Given the description of an element on the screen output the (x, y) to click on. 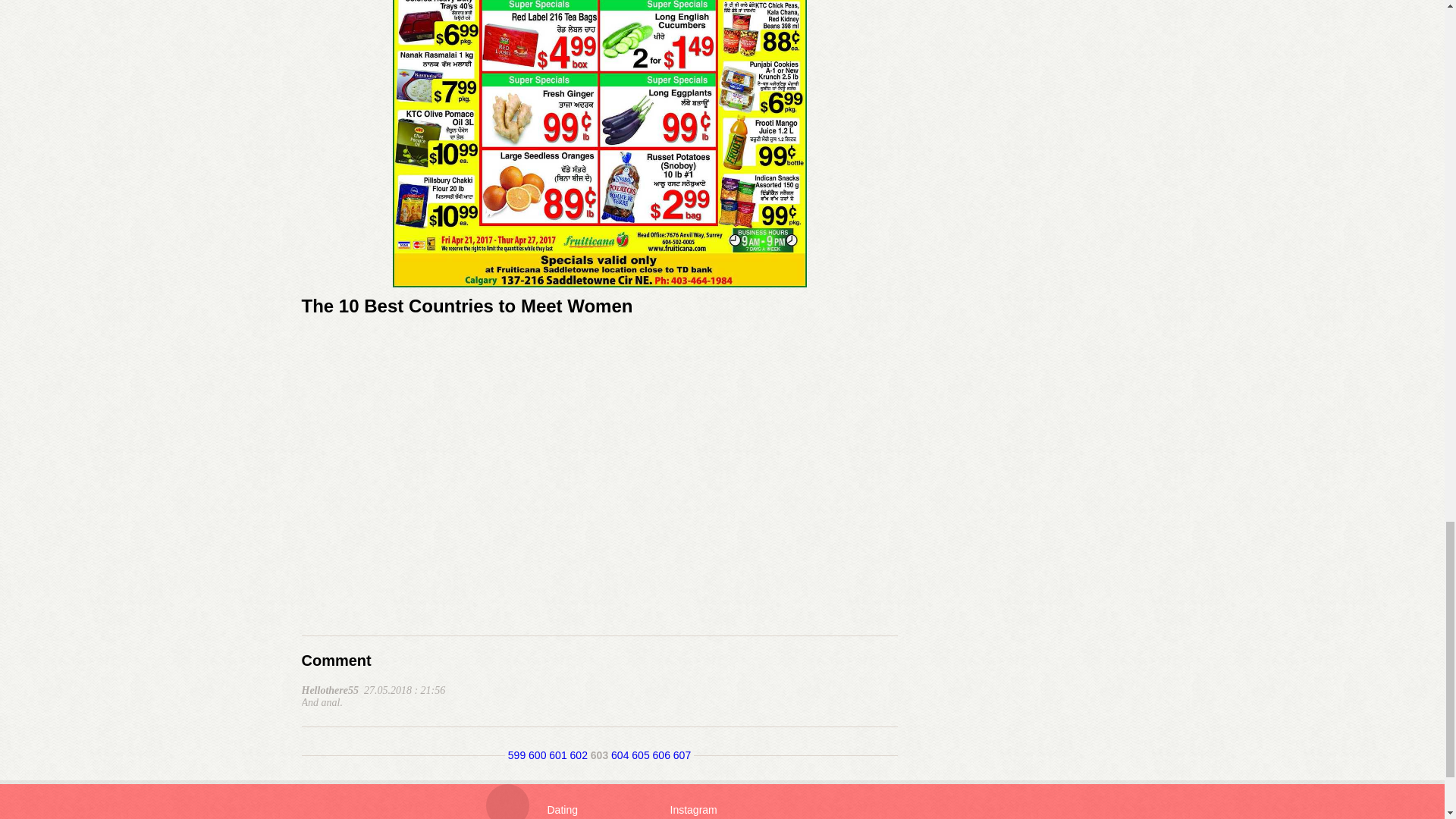
599 (516, 755)
604 (619, 755)
607 (681, 755)
606 (660, 755)
Instagram (693, 809)
Upwards (506, 801)
600 (537, 755)
Promiscuity Dating Singles Calgary Local In Spider (599, 143)
605 (640, 755)
601 (557, 755)
602 (579, 755)
Upwards (506, 801)
Dating (562, 809)
